Given the description of an element on the screen output the (x, y) to click on. 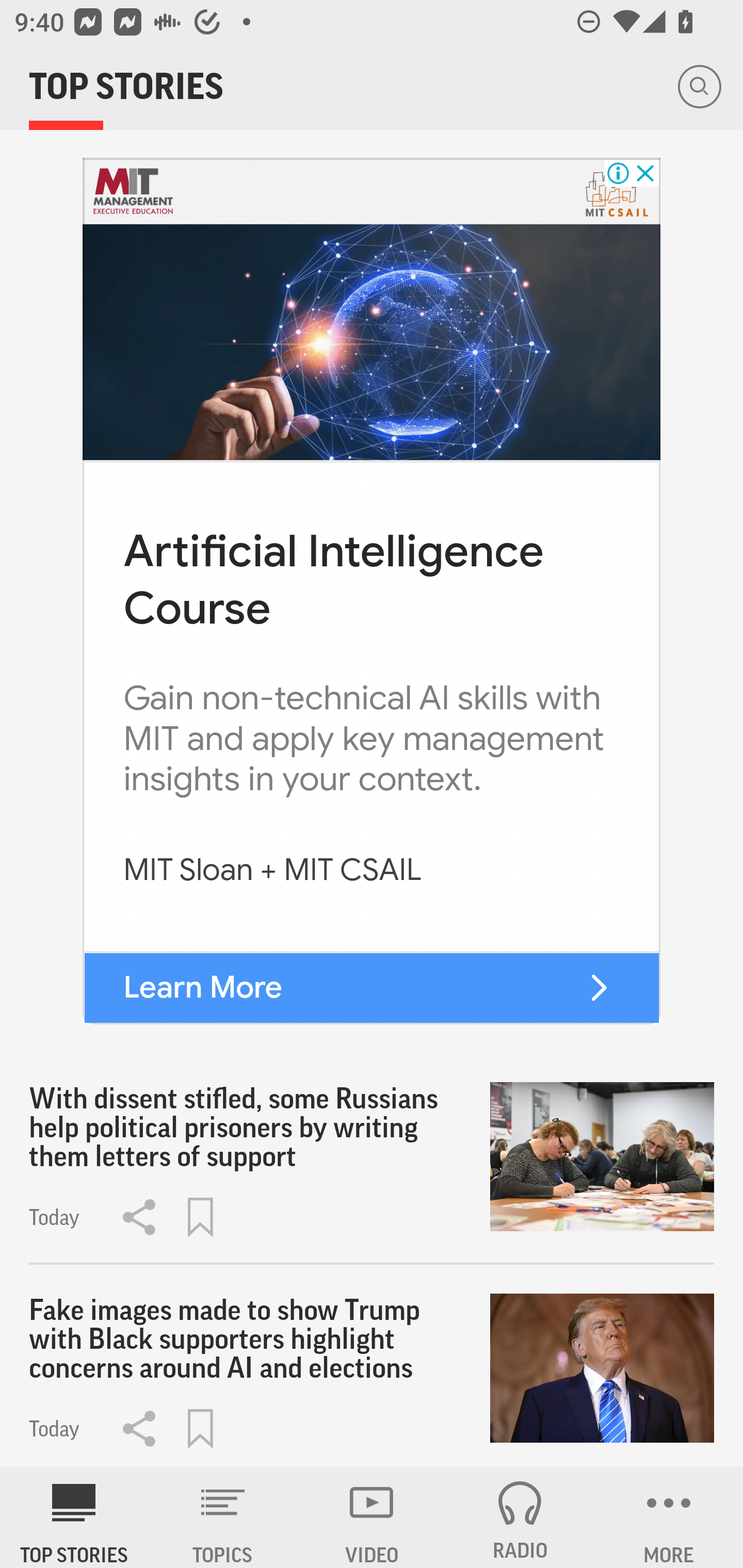
MIT Sloan + MIT CSAIL (272, 870)
Learn More (202, 987)
AP News TOP STORIES (74, 1517)
TOPICS (222, 1517)
VIDEO (371, 1517)
RADIO (519, 1517)
MORE (668, 1517)
